Given the description of an element on the screen output the (x, y) to click on. 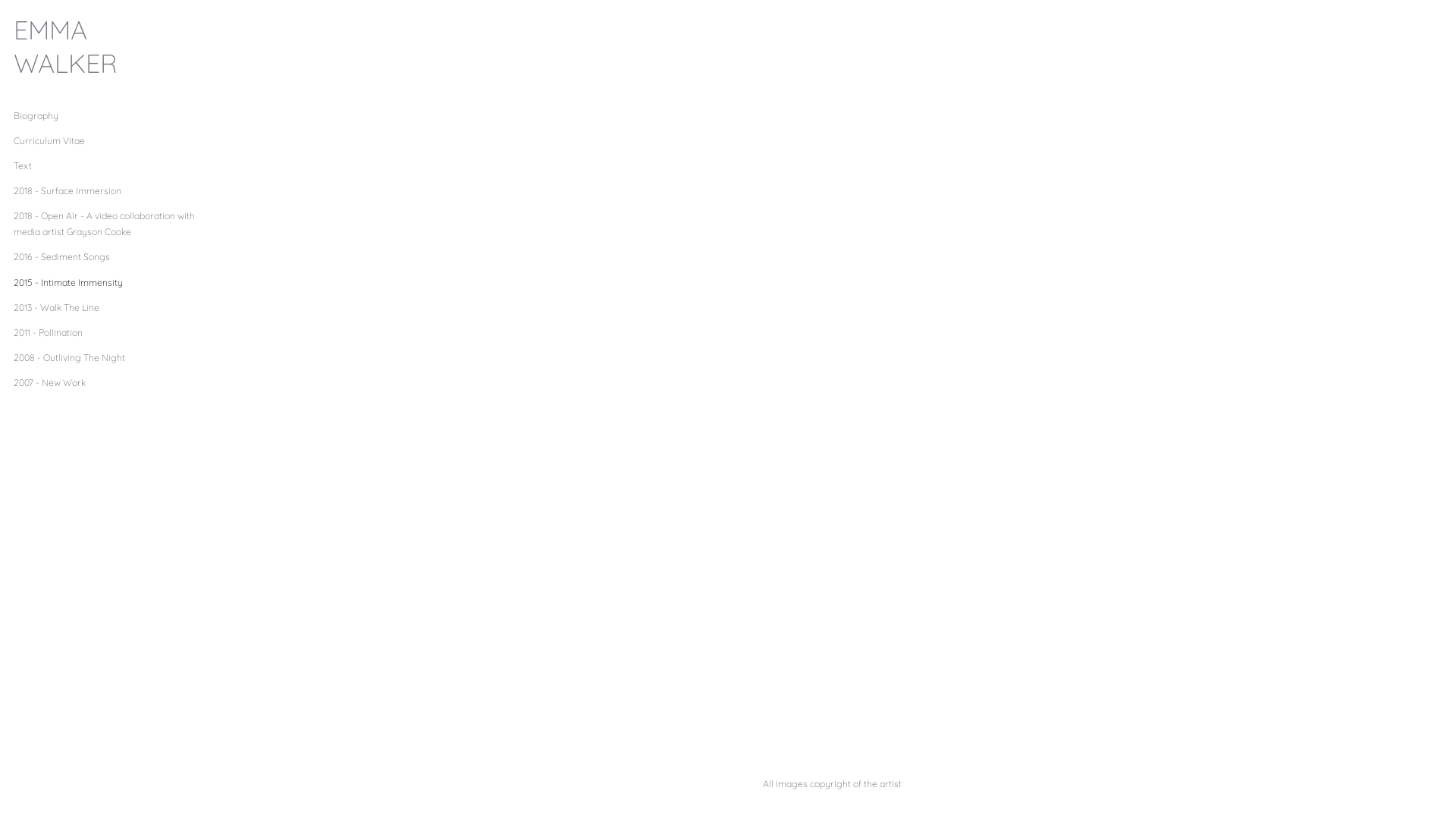
EMMA WALKER Element type: text (103, 47)
2018 - Surface Immersion Element type: text (67, 190)
2011 - Pollination Element type: text (47, 332)
2013 - Walk The Line Element type: text (56, 307)
2008 - Outliving The Night Element type: text (69, 357)
2007 - New Work Element type: text (49, 382)
Text Element type: text (22, 165)
2016 - Sediment Songs Element type: text (61, 256)
2015 - Intimate Immensity Element type: text (67, 282)
Biography Element type: text (35, 115)
Curriculum Vitae Element type: text (48, 140)
